Given the description of an element on the screen output the (x, y) to click on. 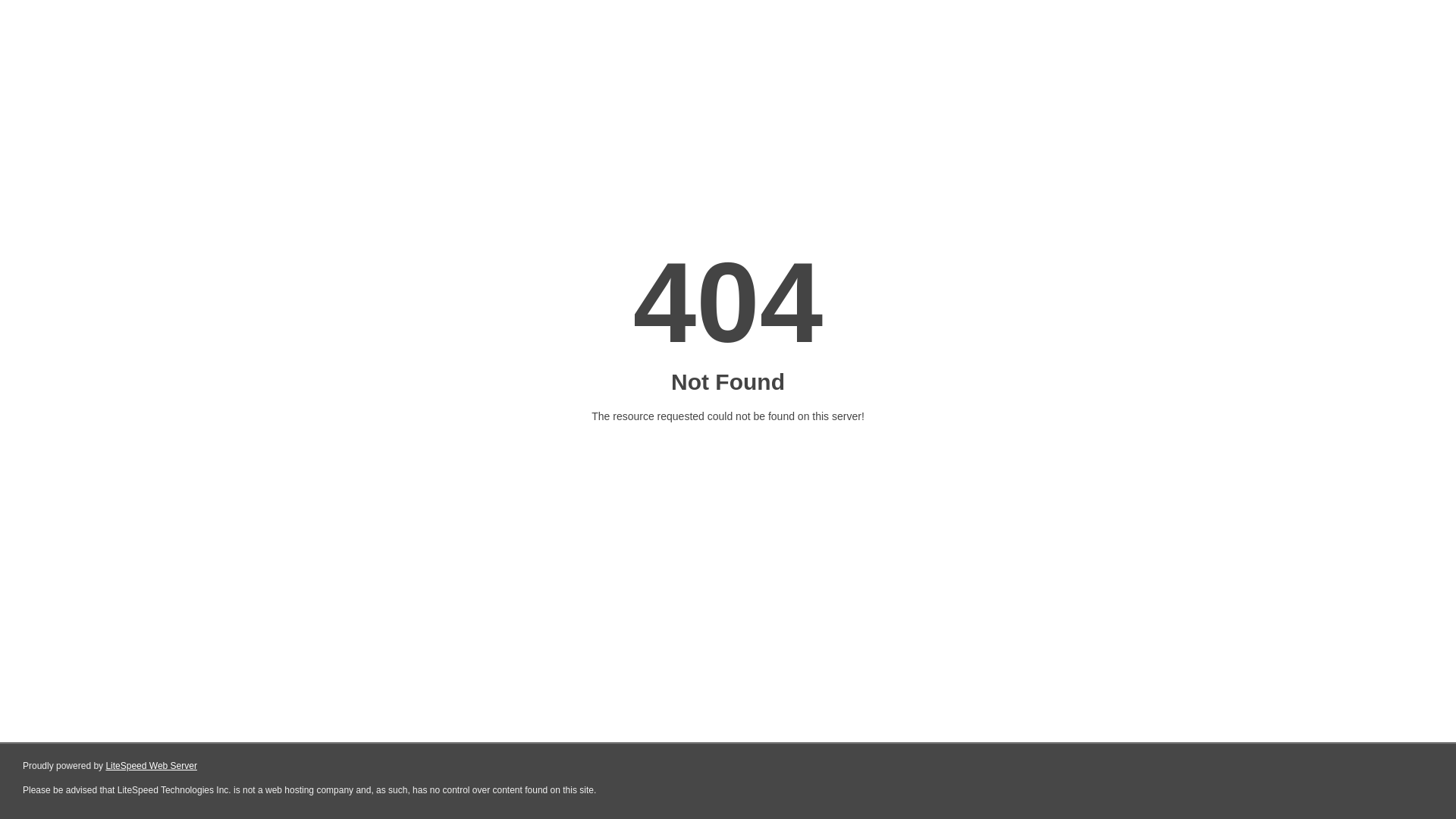
LiteSpeed Web Server Element type: text (151, 765)
